Given the description of an element on the screen output the (x, y) to click on. 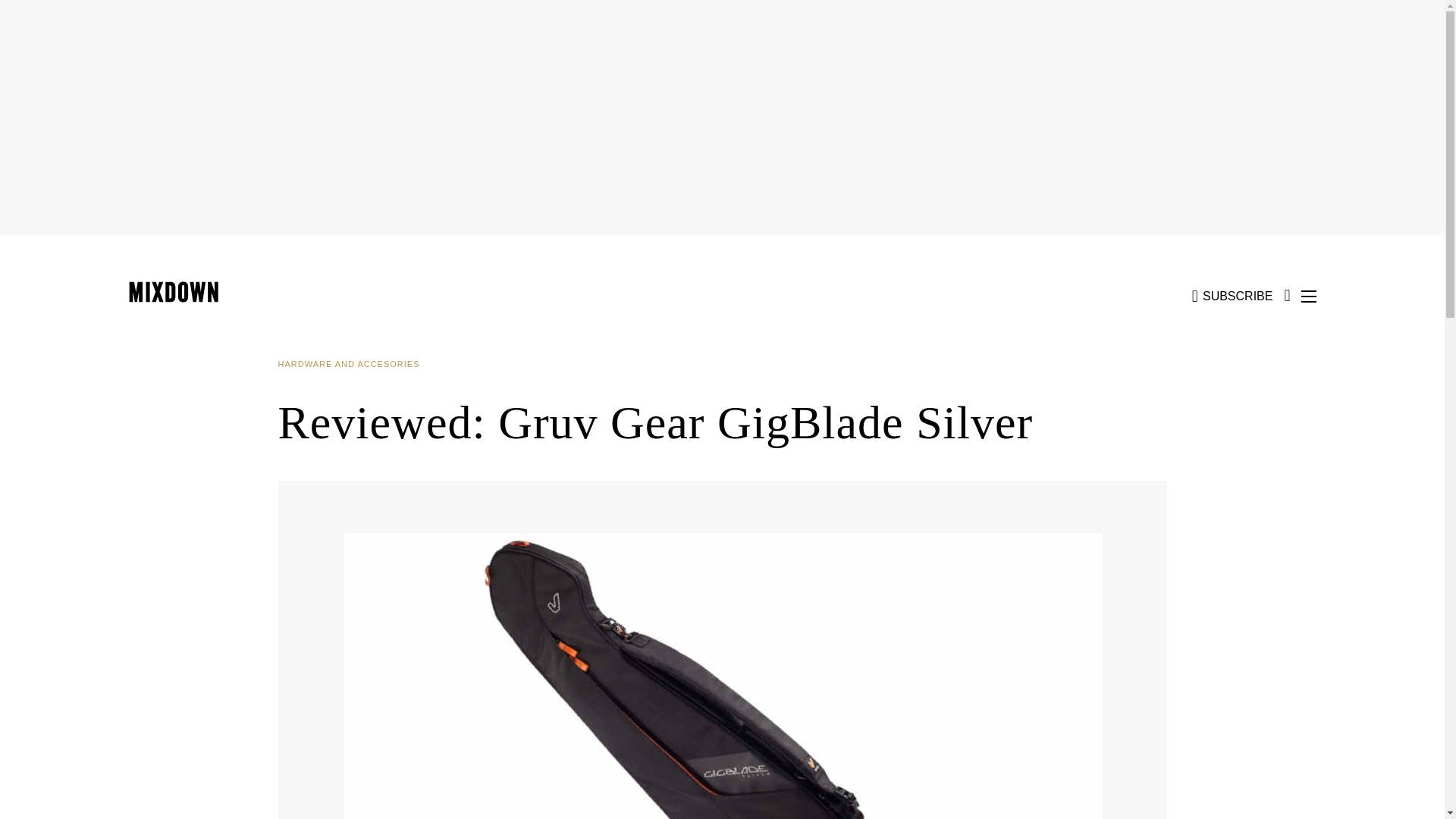
HARDWARE AND ACCESORIES (354, 364)
